Given the description of an element on the screen output the (x, y) to click on. 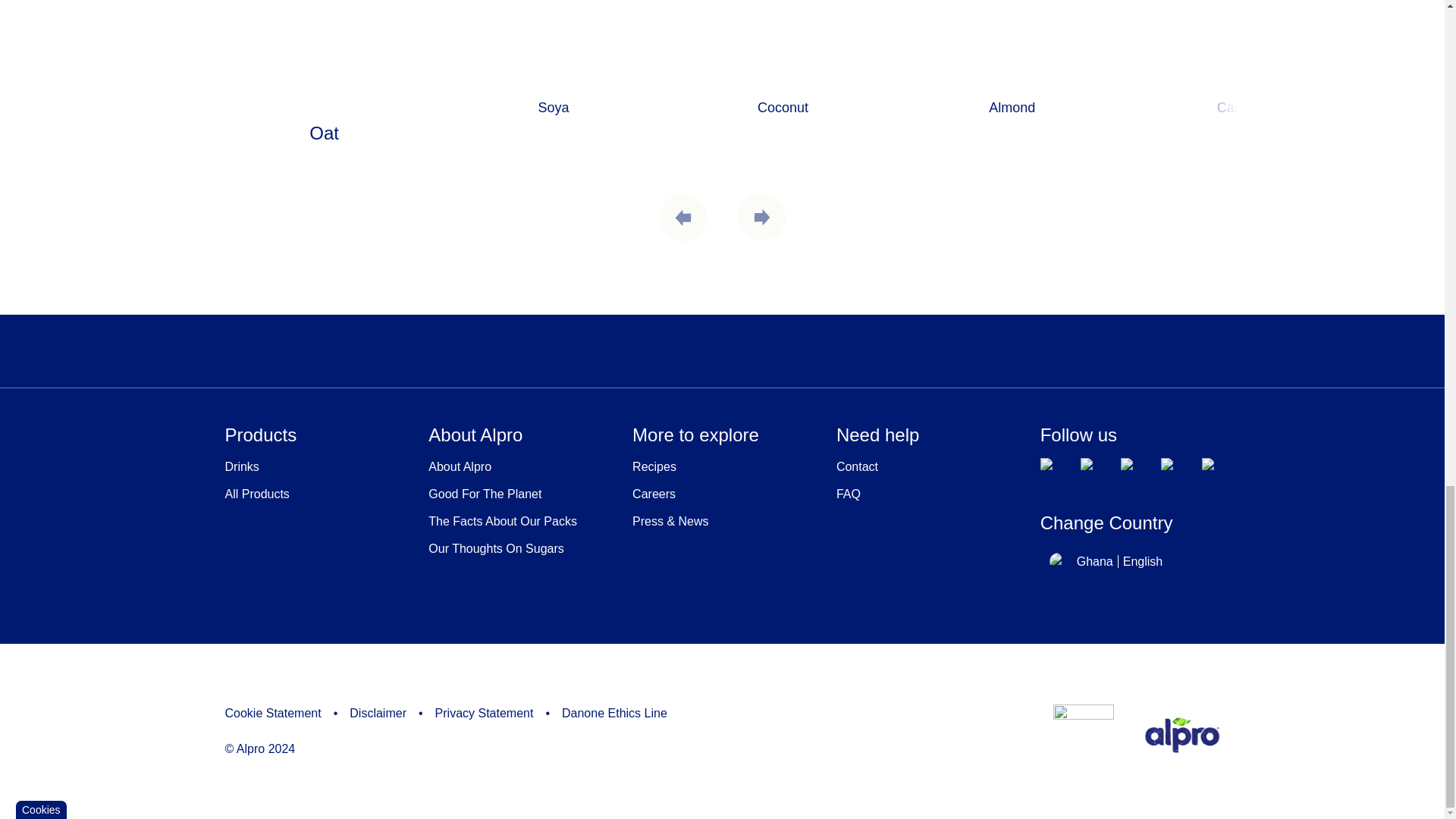
Coconut (782, 58)
Good For The Planet (518, 494)
Our Thoughts On Sugars (518, 548)
Careers (721, 494)
Cashew (1240, 58)
Contact (925, 467)
Disclaimer (385, 712)
Recipes (721, 467)
The Facts About Our Packs (518, 521)
Drinks (314, 467)
Soya (553, 58)
Ghana (1058, 561)
GhanaEnglish (1106, 561)
Cookie Statement (280, 712)
Privacy Statement (492, 712)
